Given the description of an element on the screen output the (x, y) to click on. 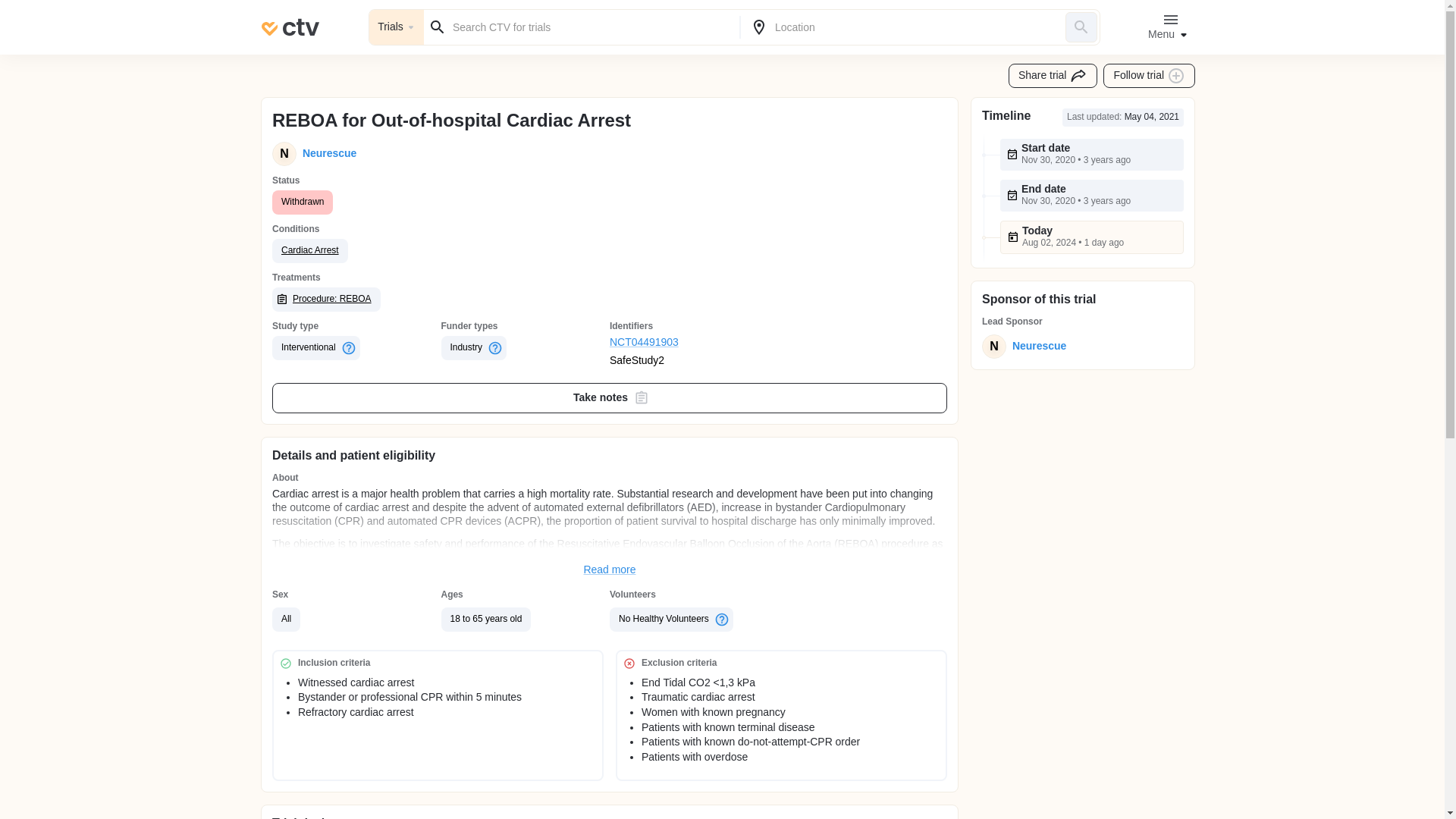
NCT04491903 (694, 342)
Neurescue (1035, 345)
Trials (396, 27)
Share trial (1053, 75)
Read more (609, 570)
Take notes (609, 398)
Neurescue (326, 153)
Follow trial (1149, 75)
